Given the description of an element on the screen output the (x, y) to click on. 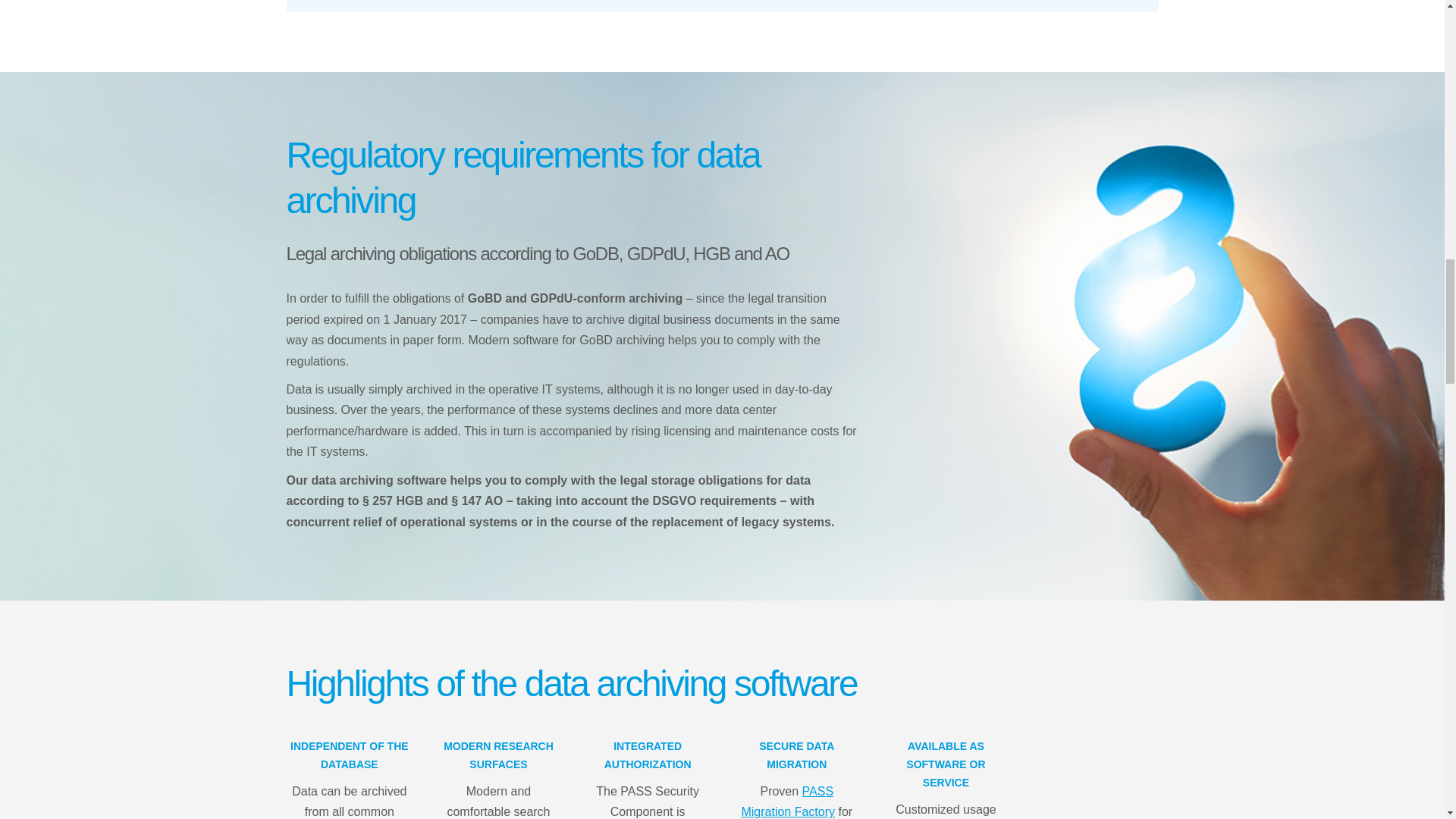
Software Modernization (787, 801)
